Given the description of an element on the screen output the (x, y) to click on. 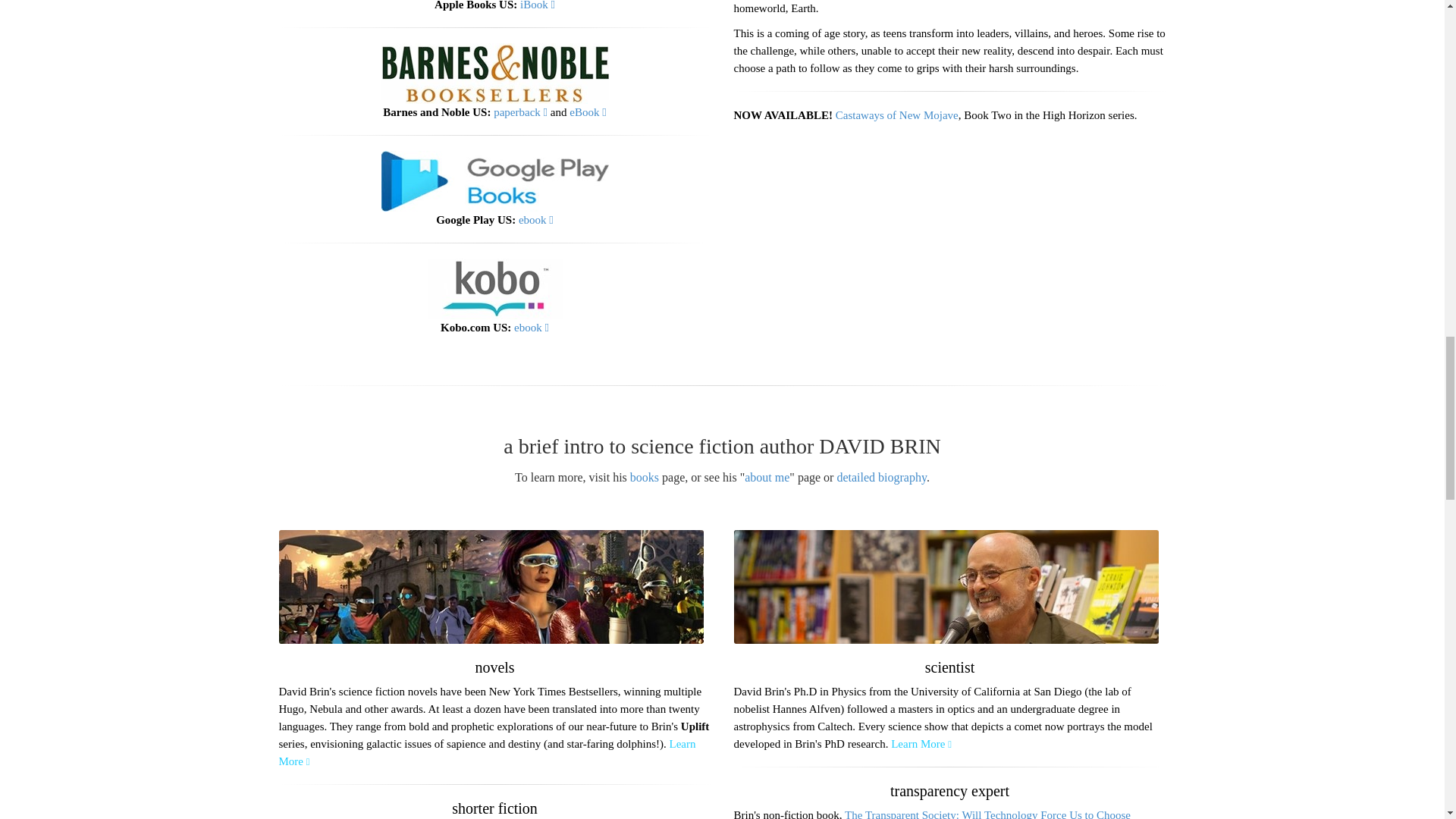
learn more about THE TRANSPARENT SOCIETY (932, 814)
iBook (536, 5)
paperback (520, 111)
books (644, 477)
Learn More (487, 752)
ebook (530, 327)
eBook (587, 111)
Castaways of New Mojave (896, 114)
DAVID BRIN's books and novels (644, 477)
learn more about CASTAWAYS OF NEW MOJAVE (896, 114)
DAVID BRIN's biography (880, 477)
DAVID BRIN's books and novels (487, 752)
ebook (535, 219)
about DAVID BRIN (766, 477)
